Given the description of an element on the screen output the (x, y) to click on. 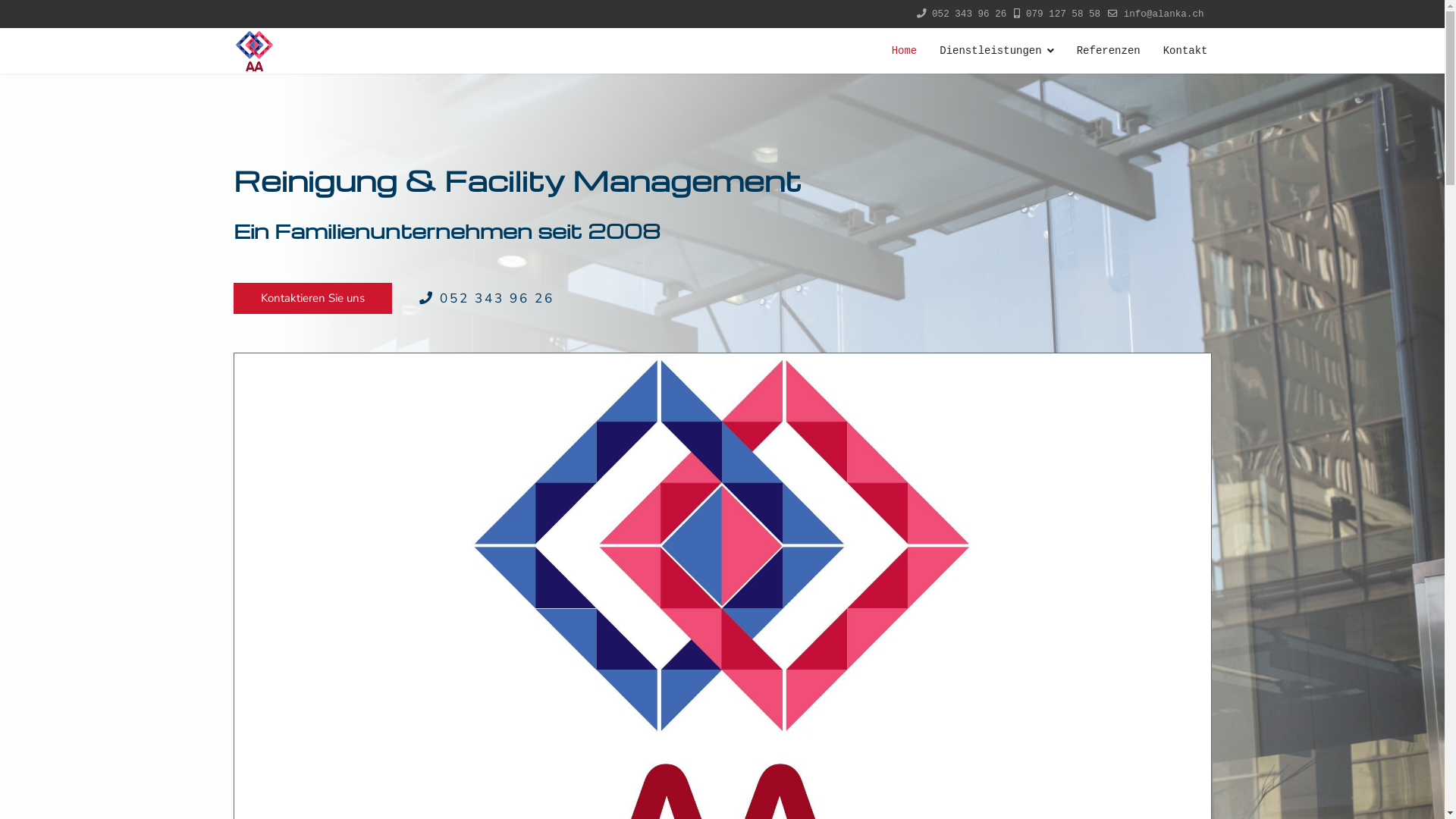
Kontaktieren Sie uns Element type: text (312, 297)
052 343 96 26 Element type: text (485, 298)
052 343 96 26 Element type: text (968, 14)
Kontakt Element type: text (1179, 50)
Referenzen Element type: text (1108, 50)
info@alanka.ch Element type: text (1163, 14)
Dienstleistungen Element type: text (996, 50)
079 127 58 58 Element type: text (1063, 14)
Home Element type: text (904, 50)
